Given the description of an element on the screen output the (x, y) to click on. 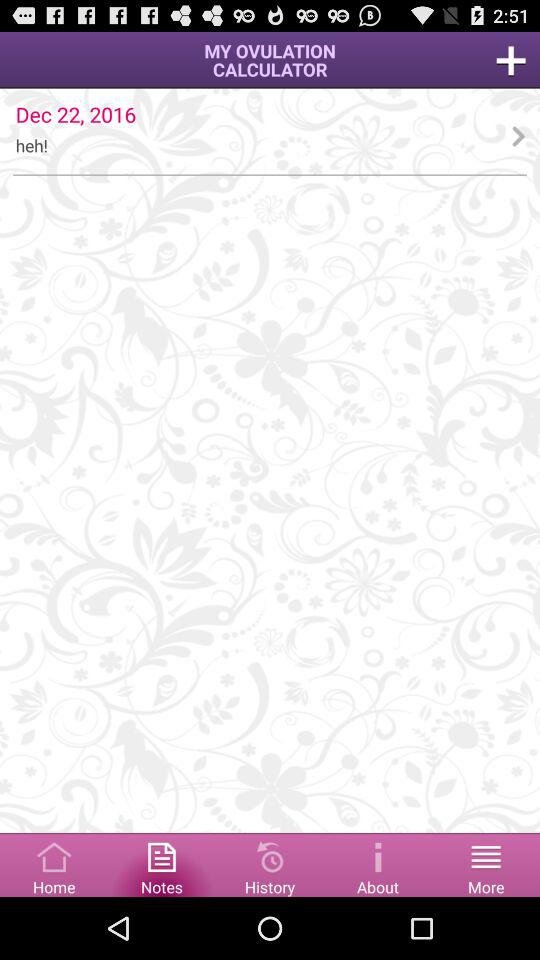
view history (270, 864)
